Given the description of an element on the screen output the (x, y) to click on. 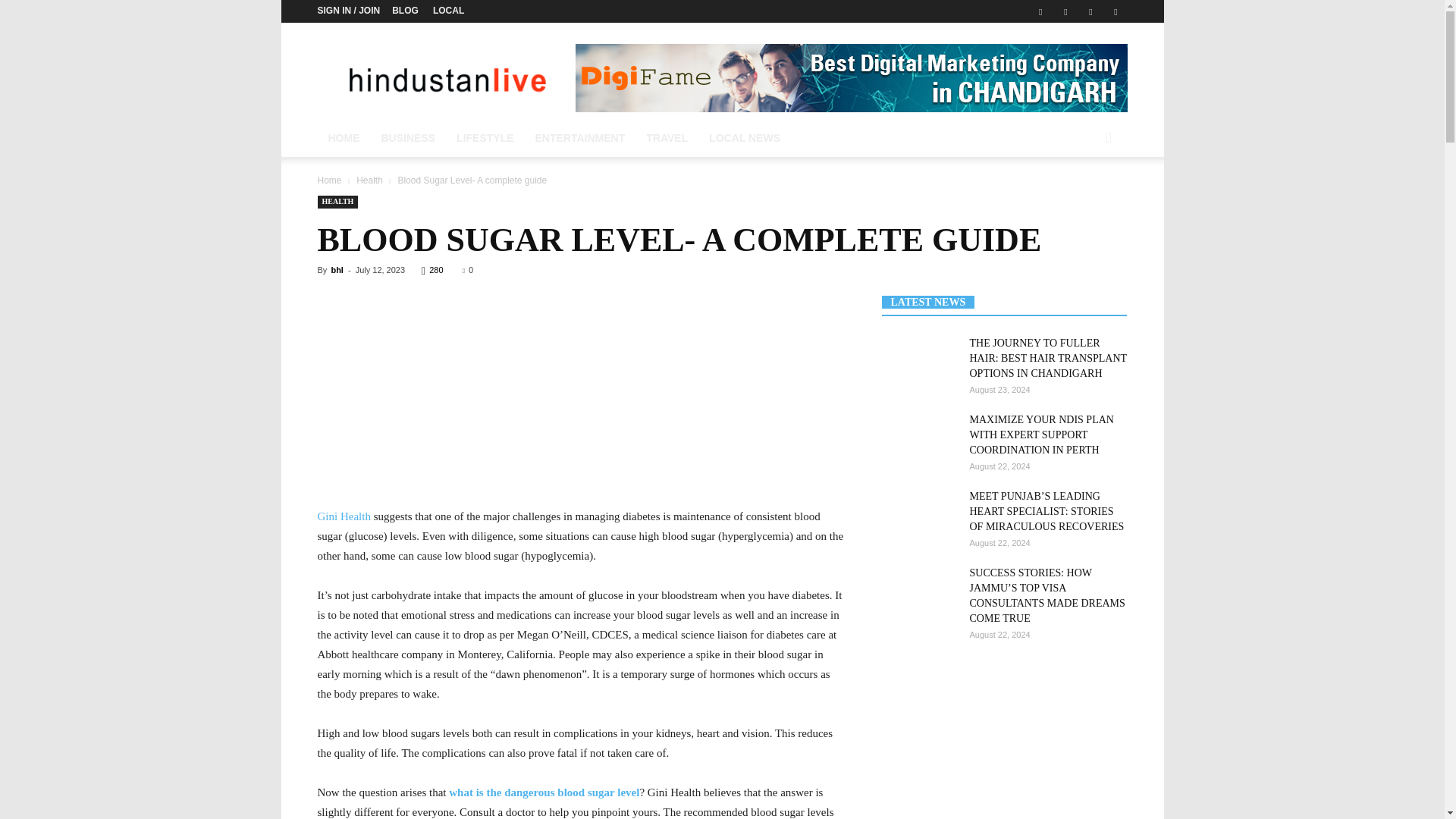
Twitter (1065, 11)
VKontakte (1090, 11)
Youtube (1114, 11)
BLOG (405, 9)
Facebook (1040, 11)
HOME (343, 137)
LOCAL (448, 9)
